Given the description of an element on the screen output the (x, y) to click on. 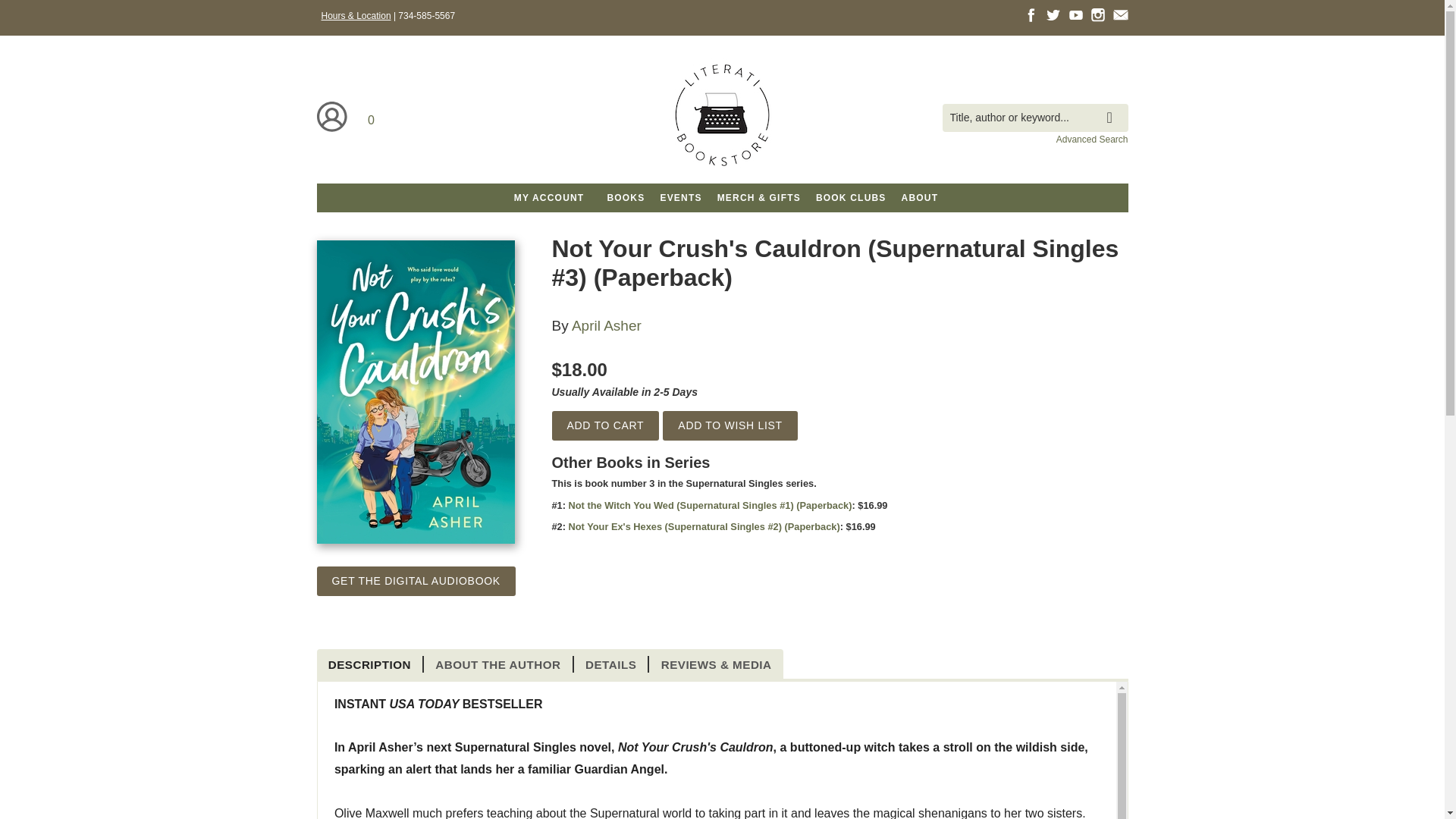
Get the Digital Audiobook (416, 581)
ABOUT (919, 197)
search (1112, 106)
Home (722, 117)
Title, author or keyword... (1034, 117)
MY ACCOUNT (549, 197)
Advanced Search (1092, 139)
search (1112, 106)
BOOK CLUBS (850, 197)
BOOKS (625, 197)
